Given the description of an element on the screen output the (x, y) to click on. 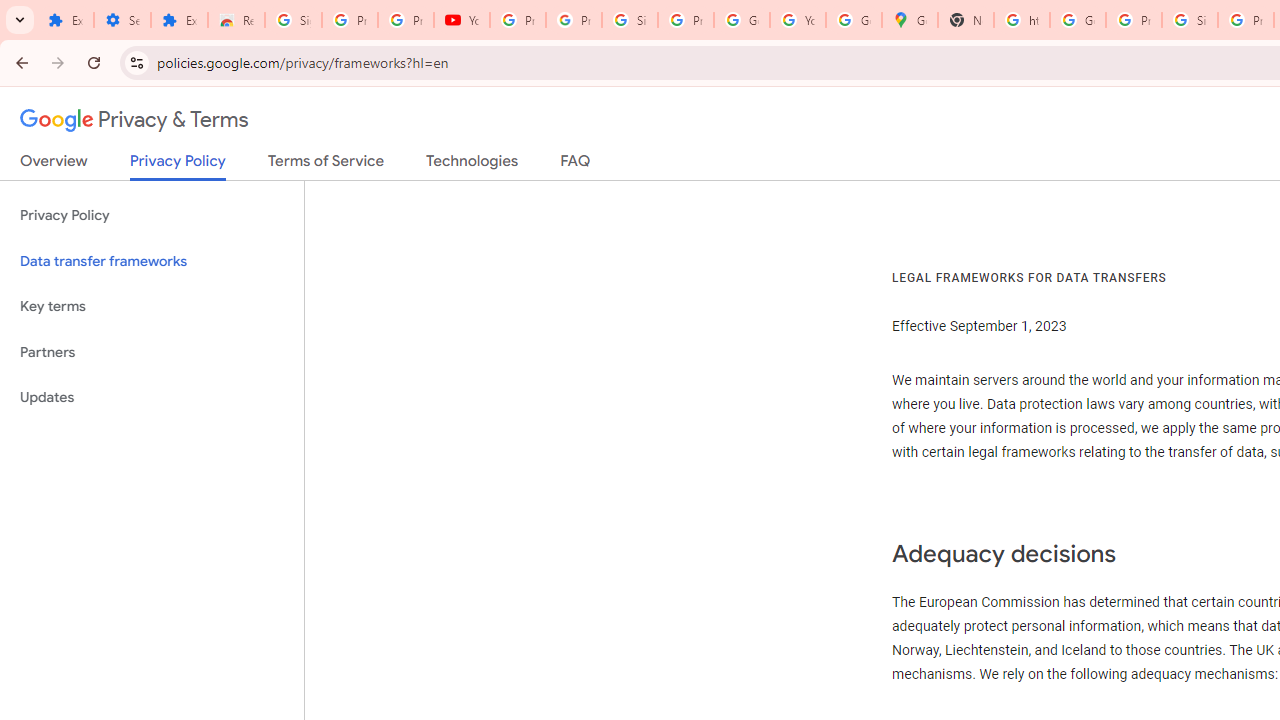
YouTube (461, 20)
